Given the description of an element on the screen output the (x, y) to click on. 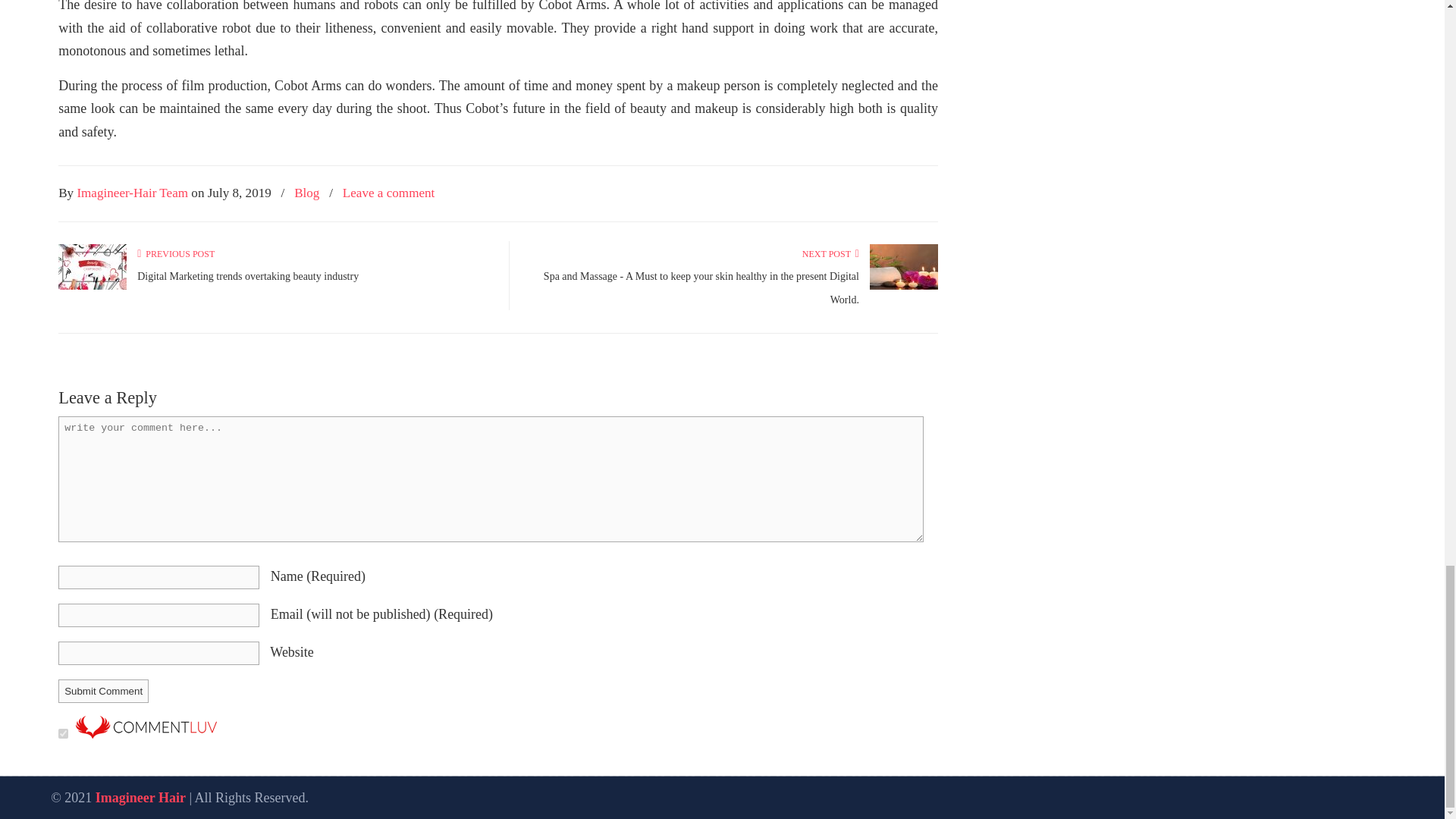
Go to previous post (175, 253)
Go to next post (830, 253)
NEXT POST   (830, 253)
on (63, 733)
Blog (306, 192)
Submit Comment (103, 690)
Imagineer-Hair Team (132, 192)
CommentLuv is enabled (145, 734)
Imagineer Hair (141, 797)
Posts by Imagineer-Hair Team (132, 192)
Leave a comment (388, 192)
 PREVIOUS POST (175, 253)
Digital Marketing trends overtaking beauty industry (247, 276)
